Given the description of an element on the screen output the (x, y) to click on. 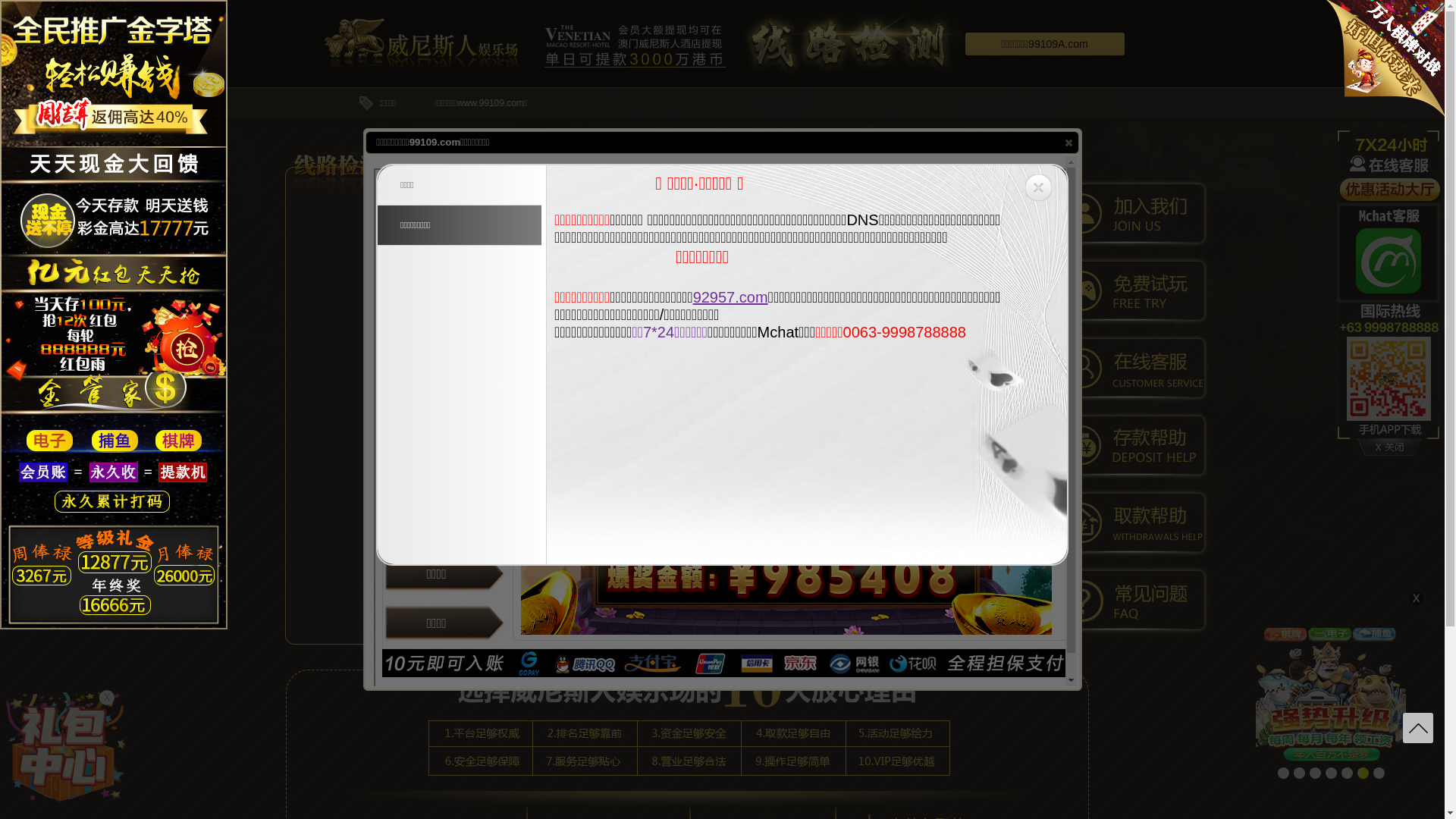
X Element type: text (106, 697)
close Element type: text (1067, 141)
92957.com Element type: text (730, 296)
